Given the description of an element on the screen output the (x, y) to click on. 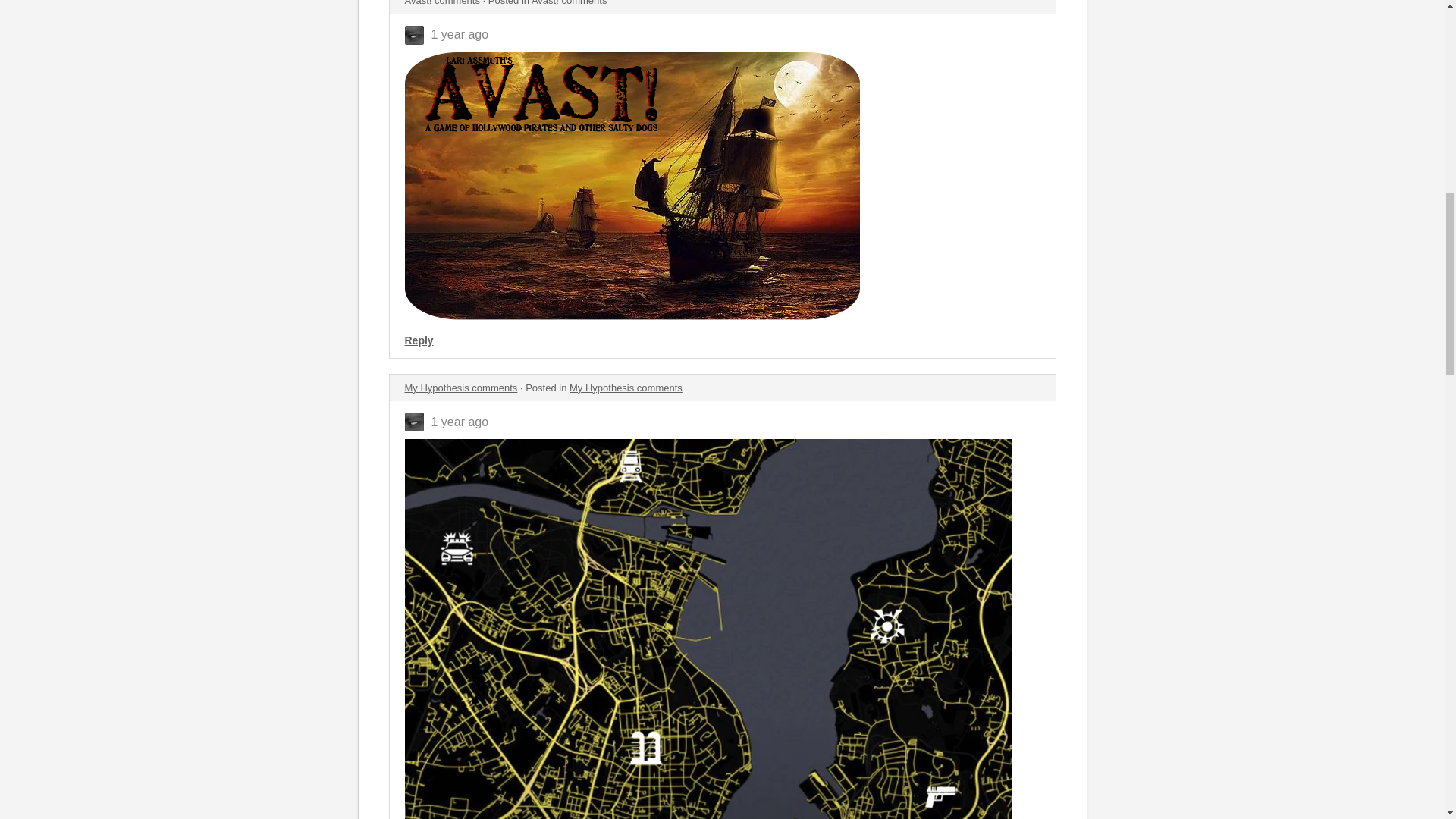
2022-09-07 11:44:39 (458, 33)
2022-09-06 22:09:51 (458, 421)
